Given the description of an element on the screen output the (x, y) to click on. 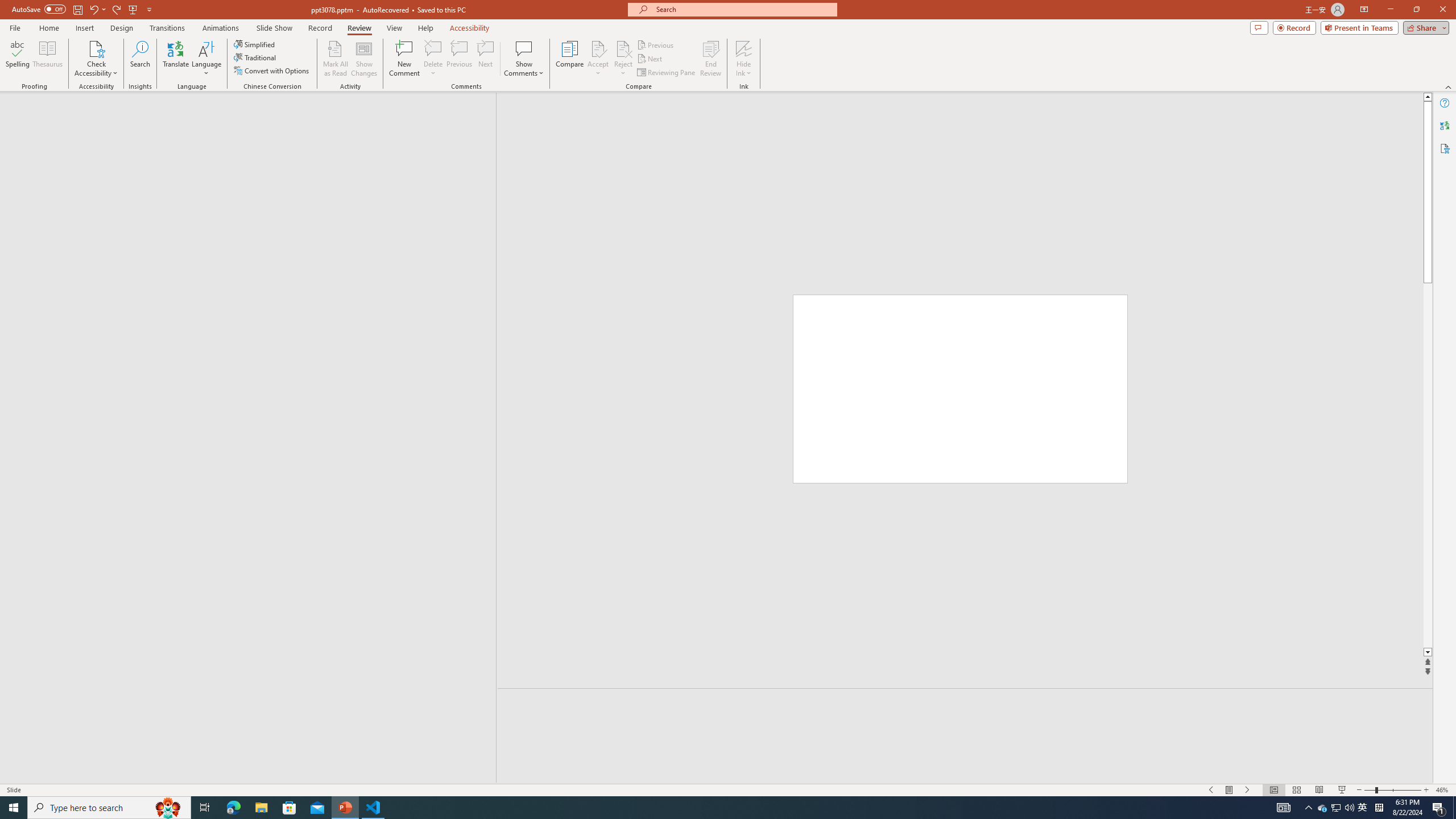
Spelling... (17, 58)
Page down (1427, 465)
Mark All as Read (335, 58)
Menu On (1229, 790)
Delete (432, 58)
New Comment (403, 58)
Slide Show Next On (1247, 790)
